Given the description of an element on the screen output the (x, y) to click on. 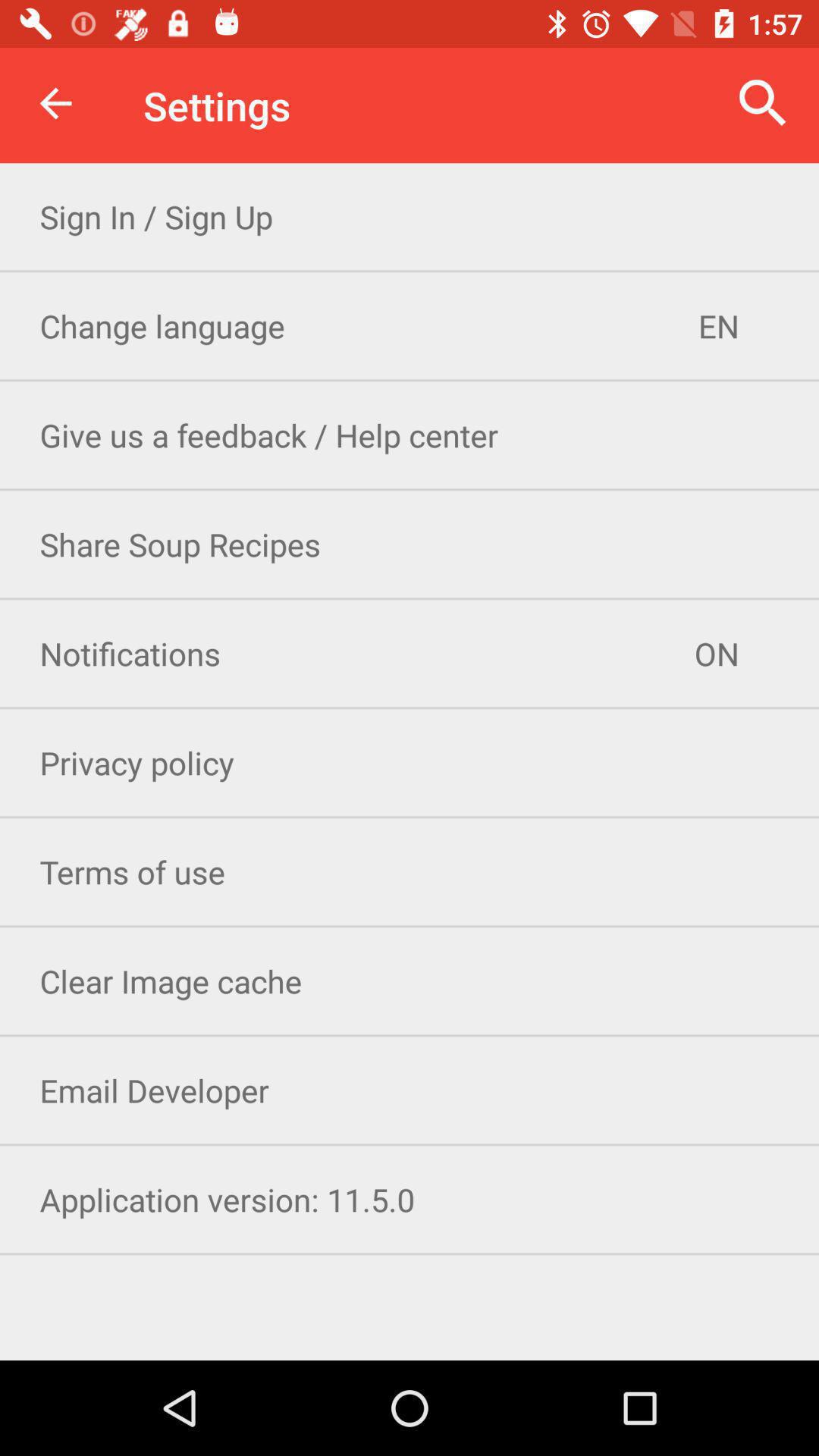
click the icon above sign in sign icon (763, 103)
